Given the description of an element on the screen output the (x, y) to click on. 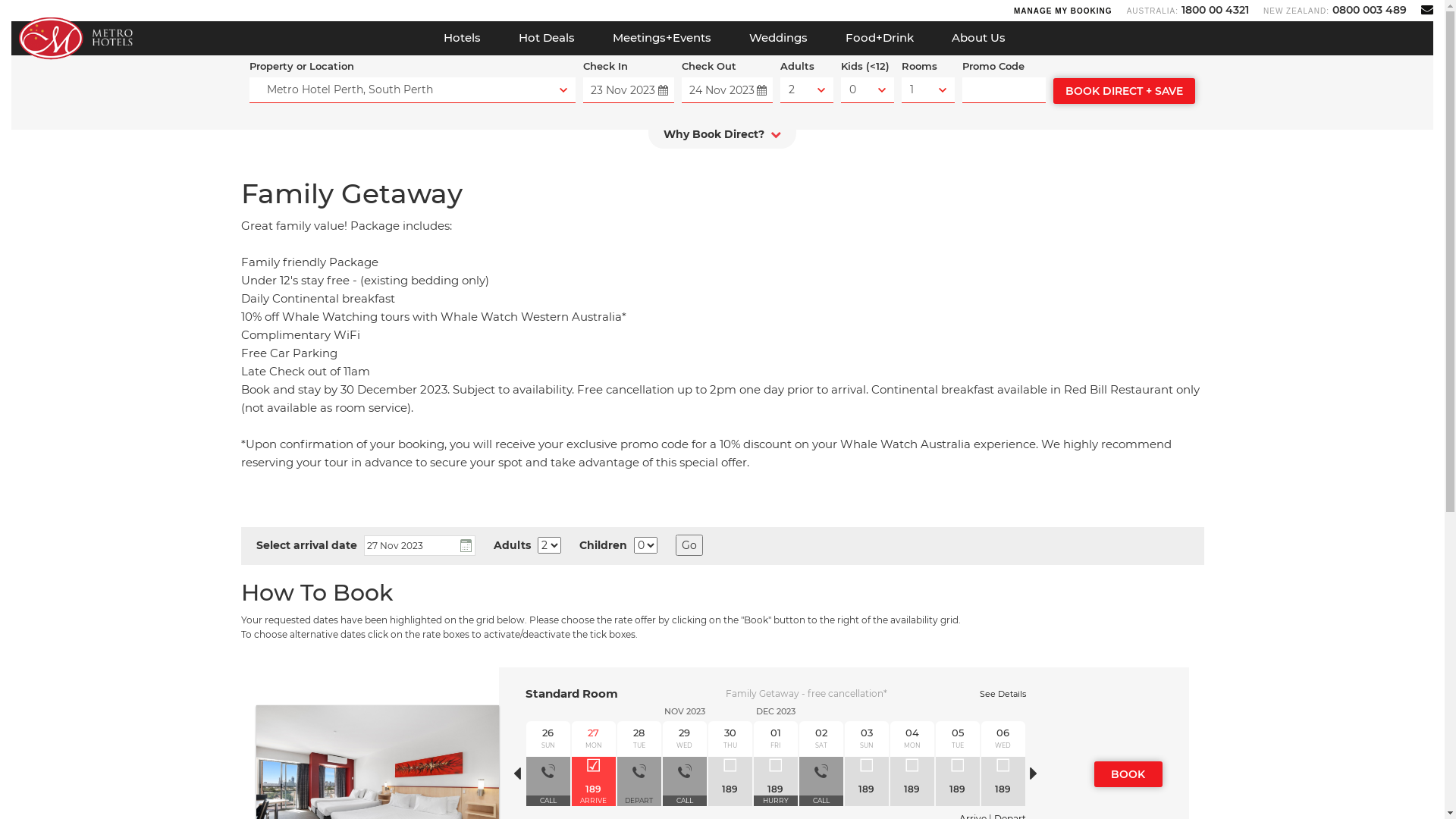
Why Book Direct? Element type: text (722, 137)
BOOK DIRECT + SAVE Element type: text (1124, 90)
MANAGE MY BOOKING Element type: text (1062, 10)
Food+Drink Element type: text (879, 38)
Weddings Element type: text (777, 38)
Hotels Element type: text (461, 38)
Meetings+Events Element type: text (661, 38)
Contact Us Element type: hover (1427, 9)
Hot Deals Element type: text (545, 38)
About Us Element type: text (978, 38)
See Details Element type: text (1002, 693)
Go Element type: text (688, 544)
